Given the description of an element on the screen output the (x, y) to click on. 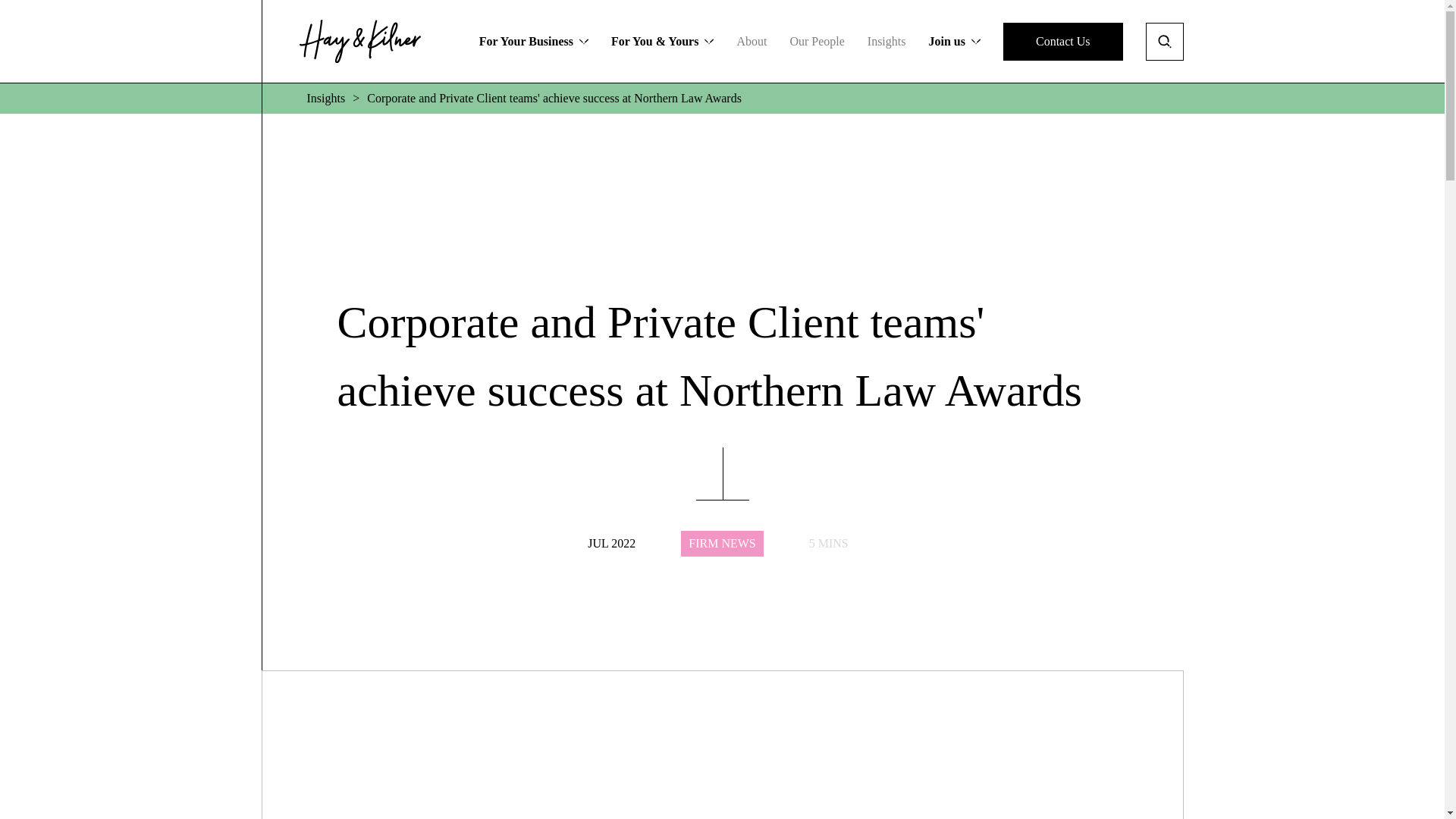
Our People (816, 40)
For Your Business (533, 40)
About (751, 40)
Insights (886, 40)
Join us (1062, 41)
